Given the description of an element on the screen output the (x, y) to click on. 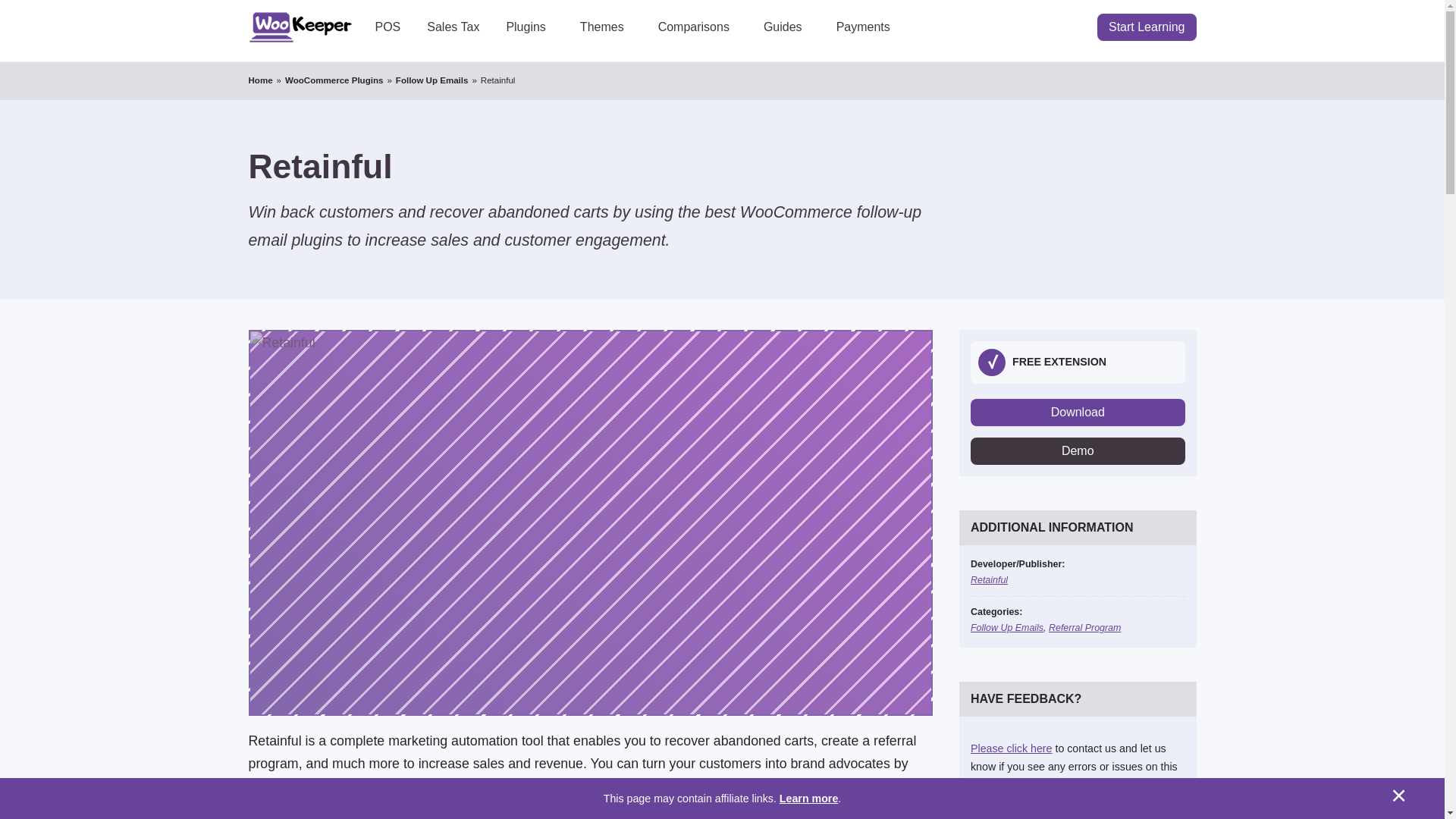
Themes (606, 26)
Sales Tax (452, 26)
POS (388, 26)
Plugins (529, 26)
Comparisons (697, 26)
